Given the description of an element on the screen output the (x, y) to click on. 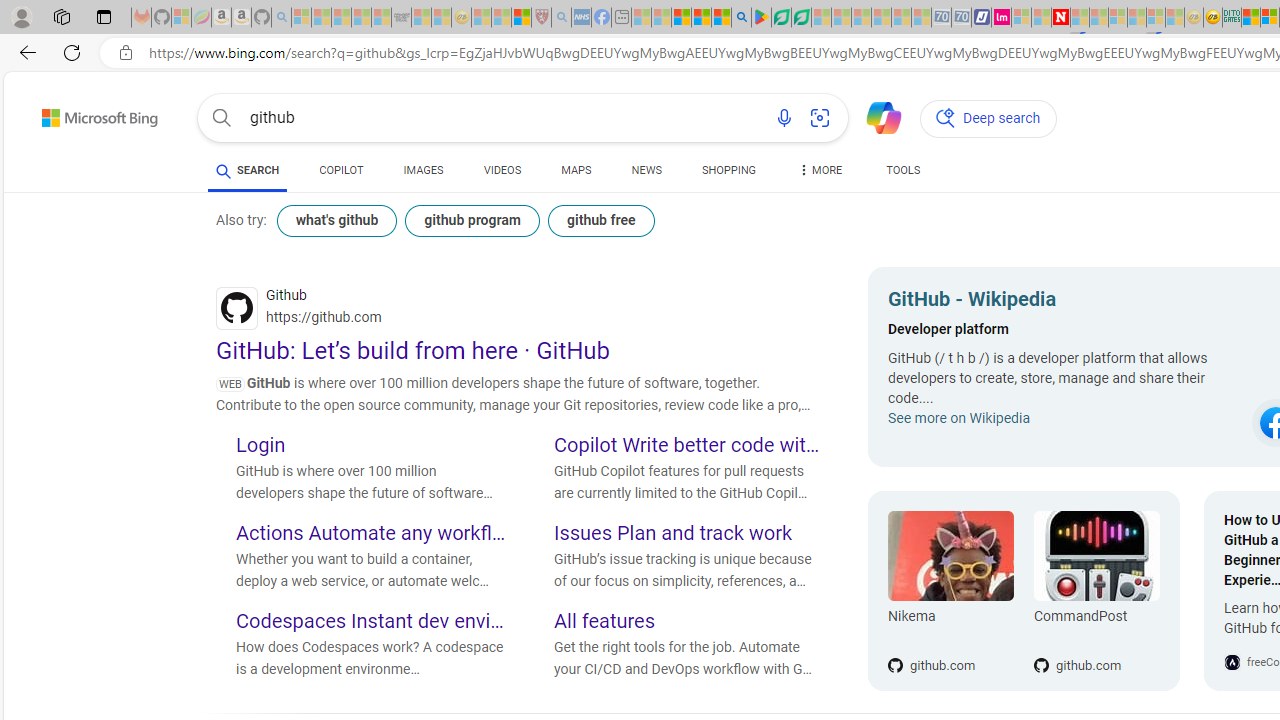
Bluey: Let's Play! - Apps on Google Play (760, 17)
All features (689, 623)
CommandPost (1096, 556)
Login (370, 446)
github program (472, 220)
